Given the description of an element on the screen output the (x, y) to click on. 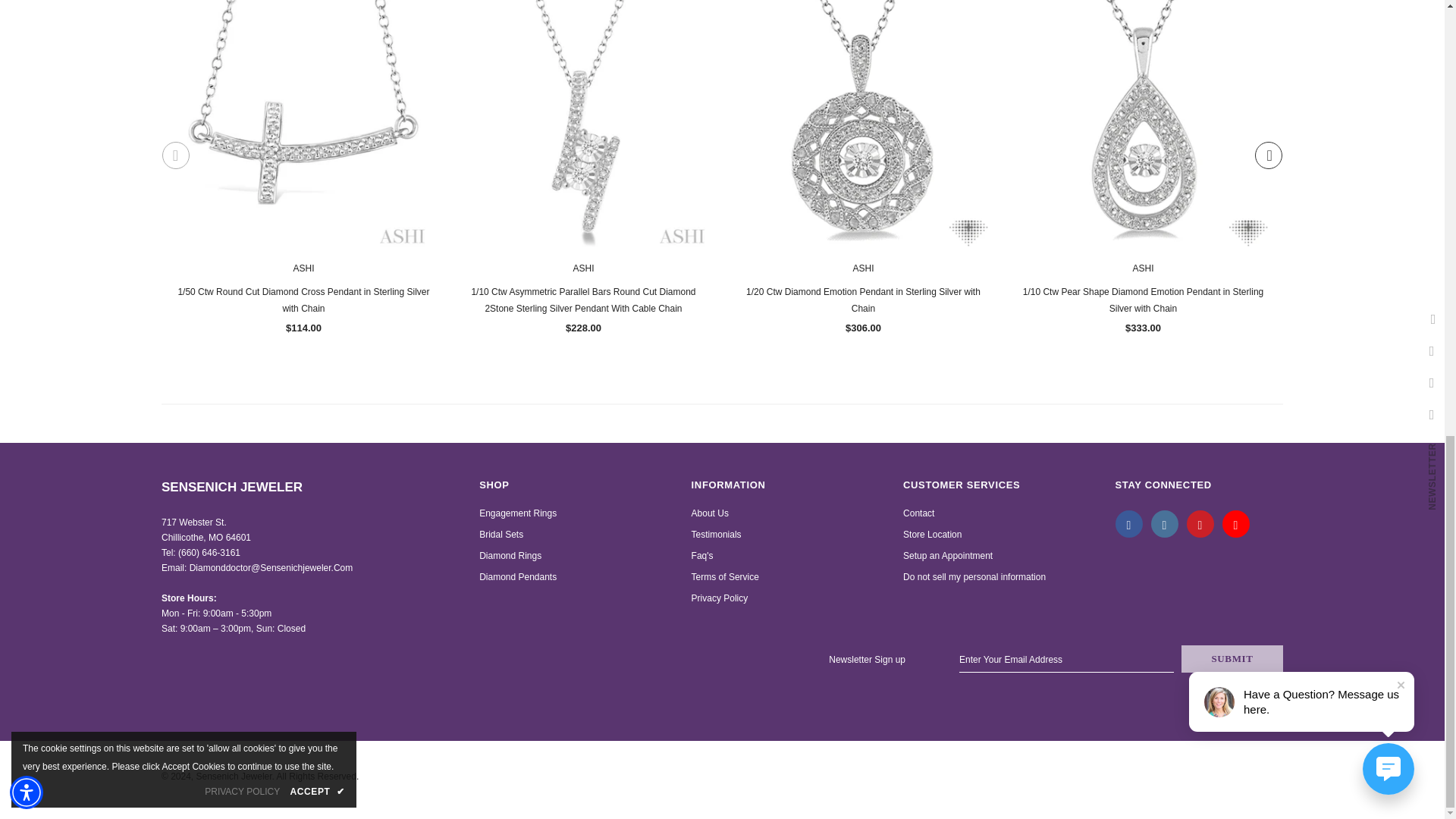
Submit (1231, 658)
